Given the description of an element on the screen output the (x, y) to click on. 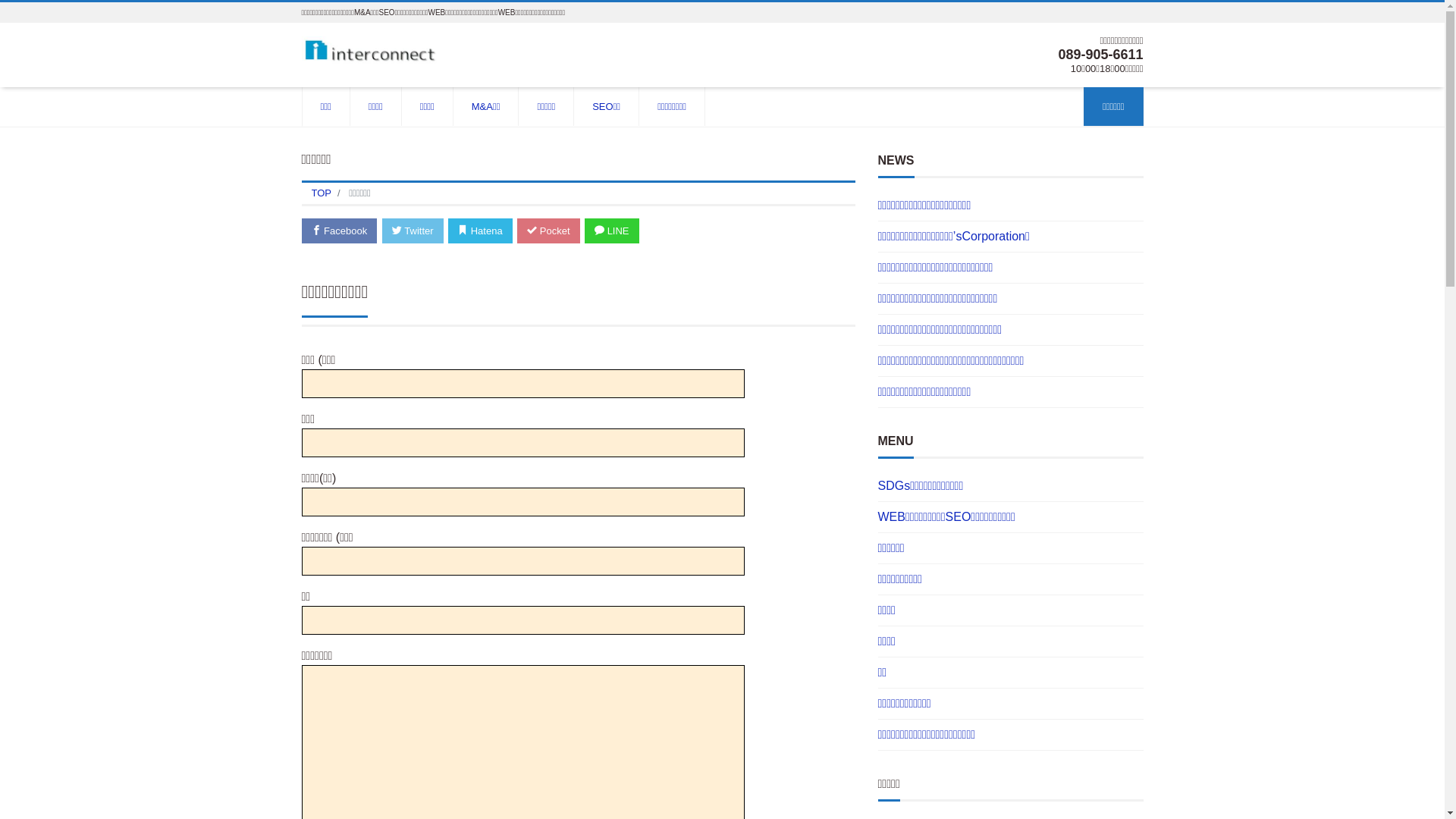
Hatena Element type: text (480, 230)
Pocket Element type: text (548, 230)
Twitter Element type: text (412, 230)
Facebook Element type: text (339, 230)
LINE Element type: text (611, 230)
TOP Element type: text (320, 192)
